Given the description of an element on the screen output the (x, y) to click on. 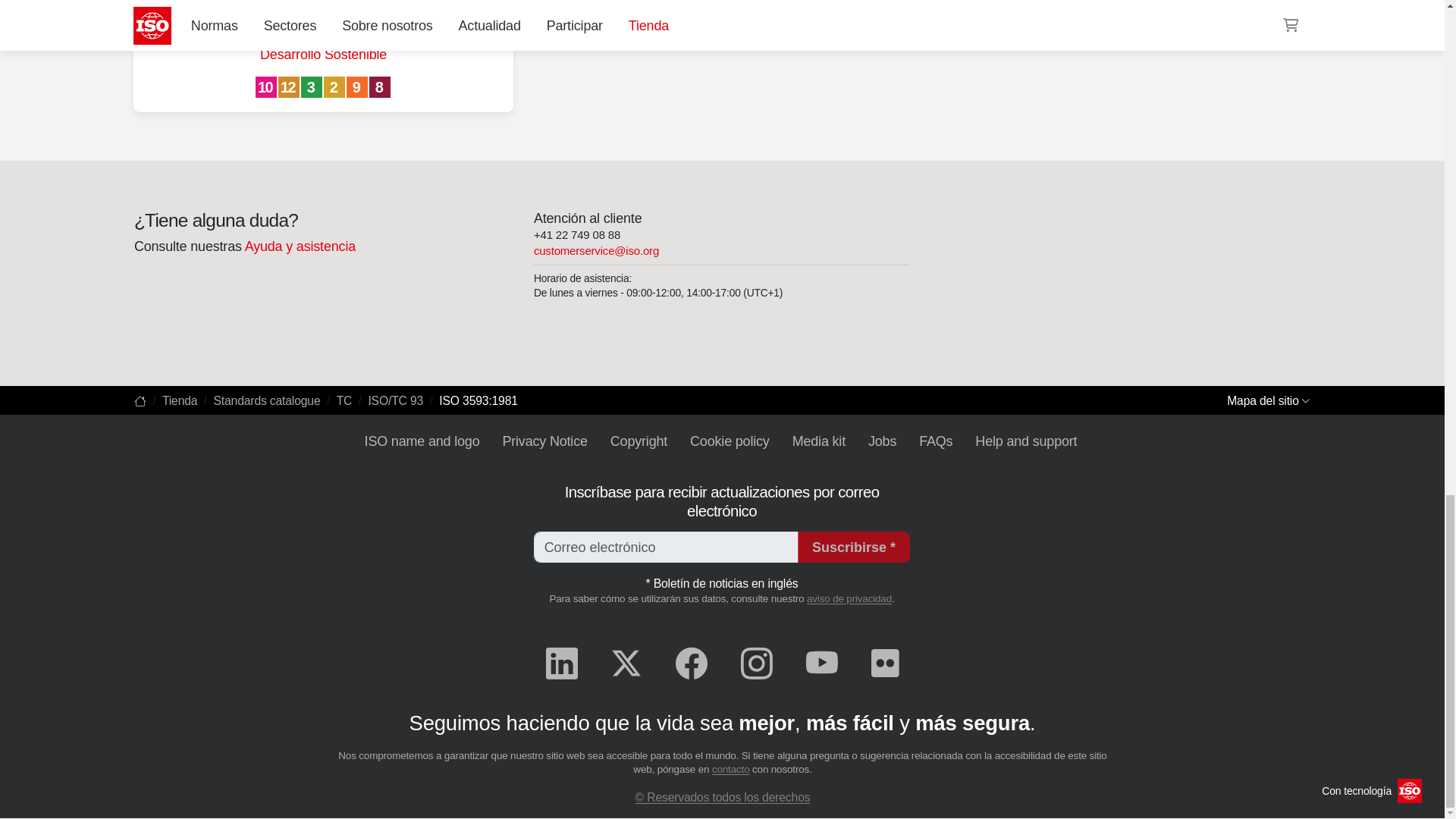
Reduced Inequalities (267, 87)
Responsible Consumption and Production (289, 87)
